Given the description of an element on the screen output the (x, y) to click on. 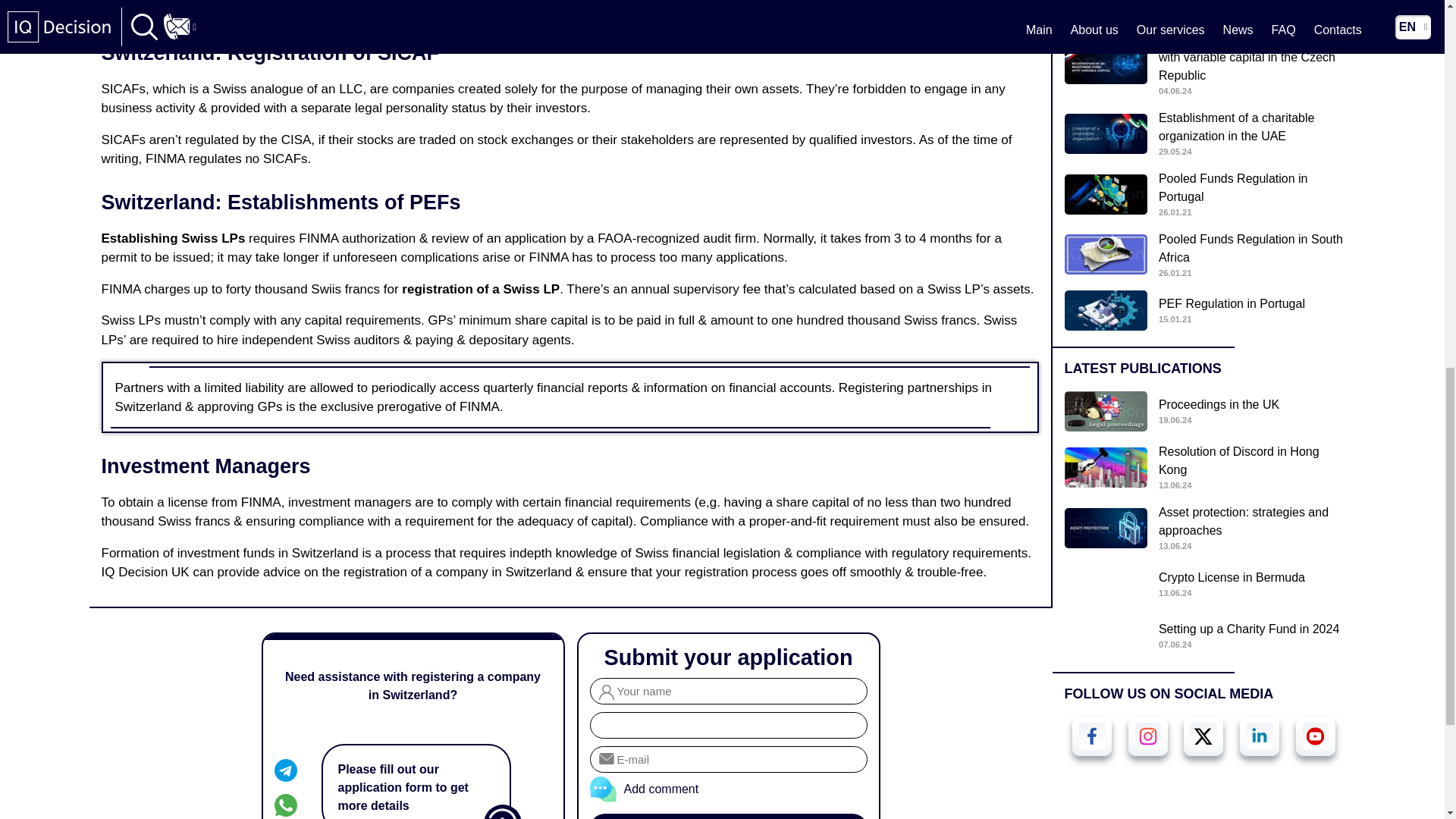
Send (728, 816)
